Given the description of an element on the screen output the (x, y) to click on. 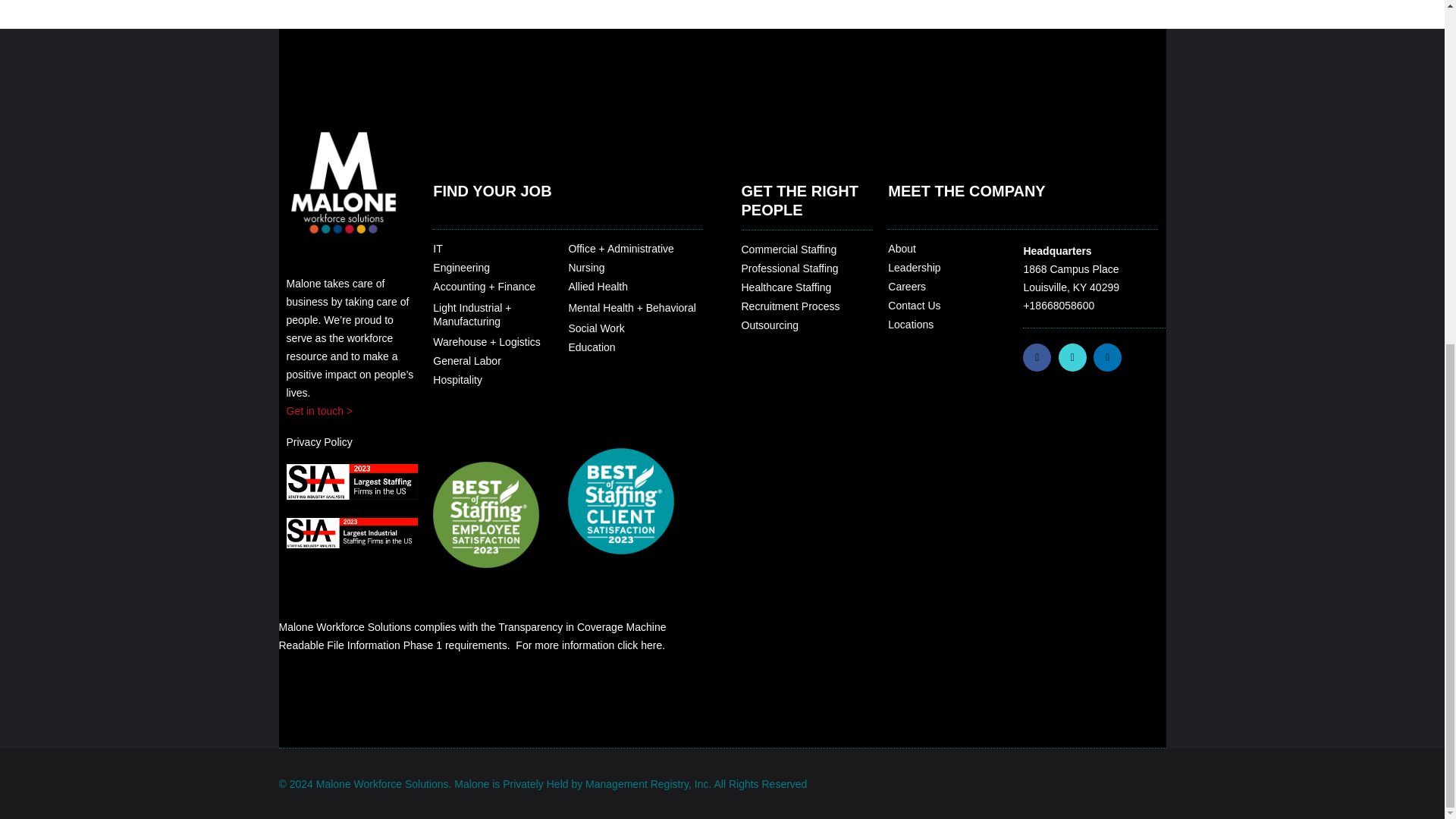
Hospitality (456, 379)
Engineering (460, 267)
General Labor (466, 360)
Social Work (595, 328)
Allied Health (597, 286)
Privacy Policy (319, 441)
Nursing (585, 267)
